Given the description of an element on the screen output the (x, y) to click on. 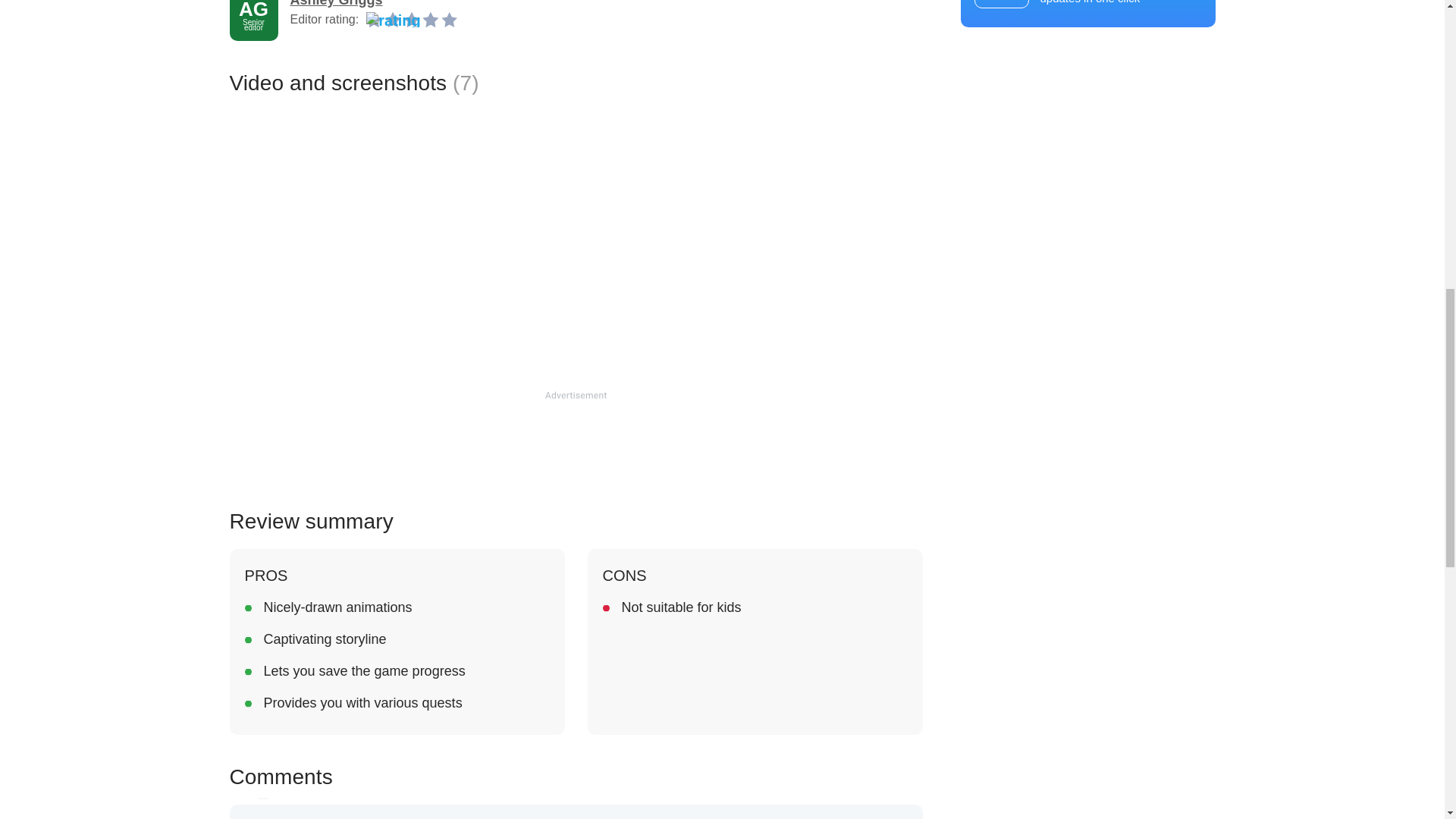
Advertisement (574, 441)
